Given the description of an element on the screen output the (x, y) to click on. 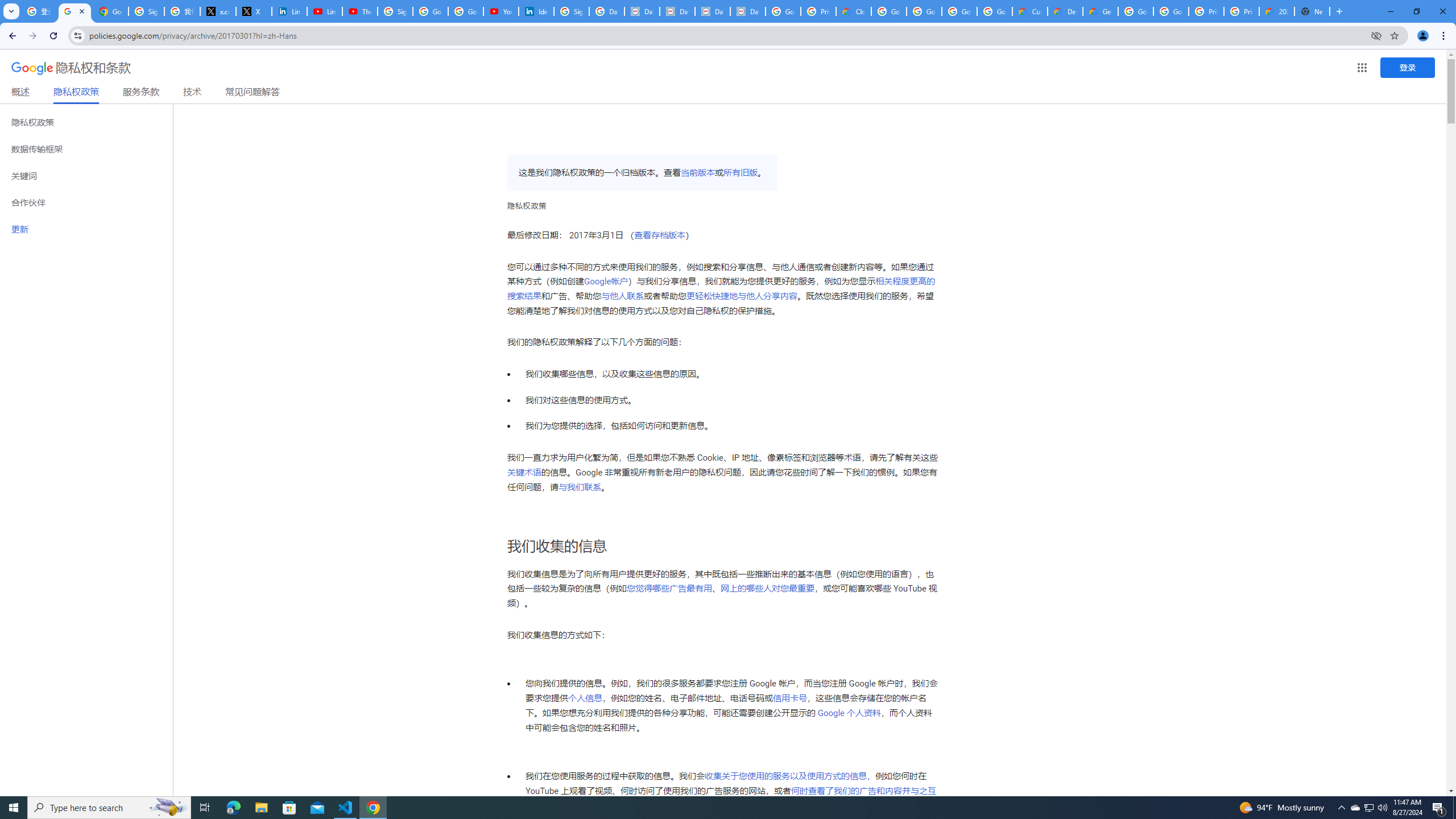
Sign in - Google Accounts (394, 11)
Customer Care | Google Cloud (1029, 11)
Sign in - Google Accounts (145, 11)
Data Privacy Framework (747, 11)
